Given the description of an element on the screen output the (x, y) to click on. 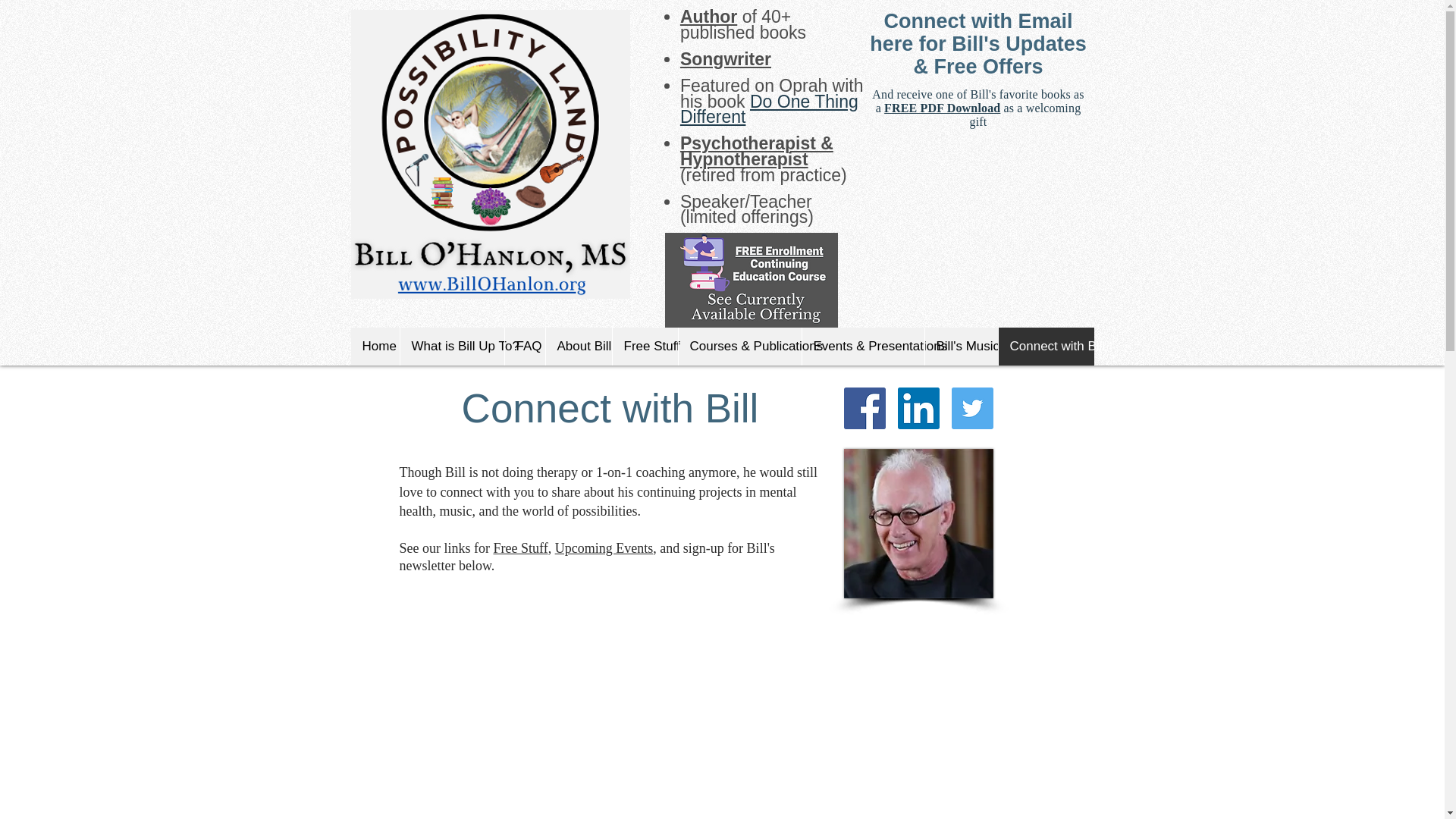
Bill's Music (960, 346)
Free Stuff (644, 346)
Free Stuff (520, 548)
Upcoming Events (603, 548)
About Bill (577, 346)
Connect with Bill (1045, 346)
What is Bill Up To? (450, 346)
Home (374, 346)
FAQ (523, 346)
